Given the description of an element on the screen output the (x, y) to click on. 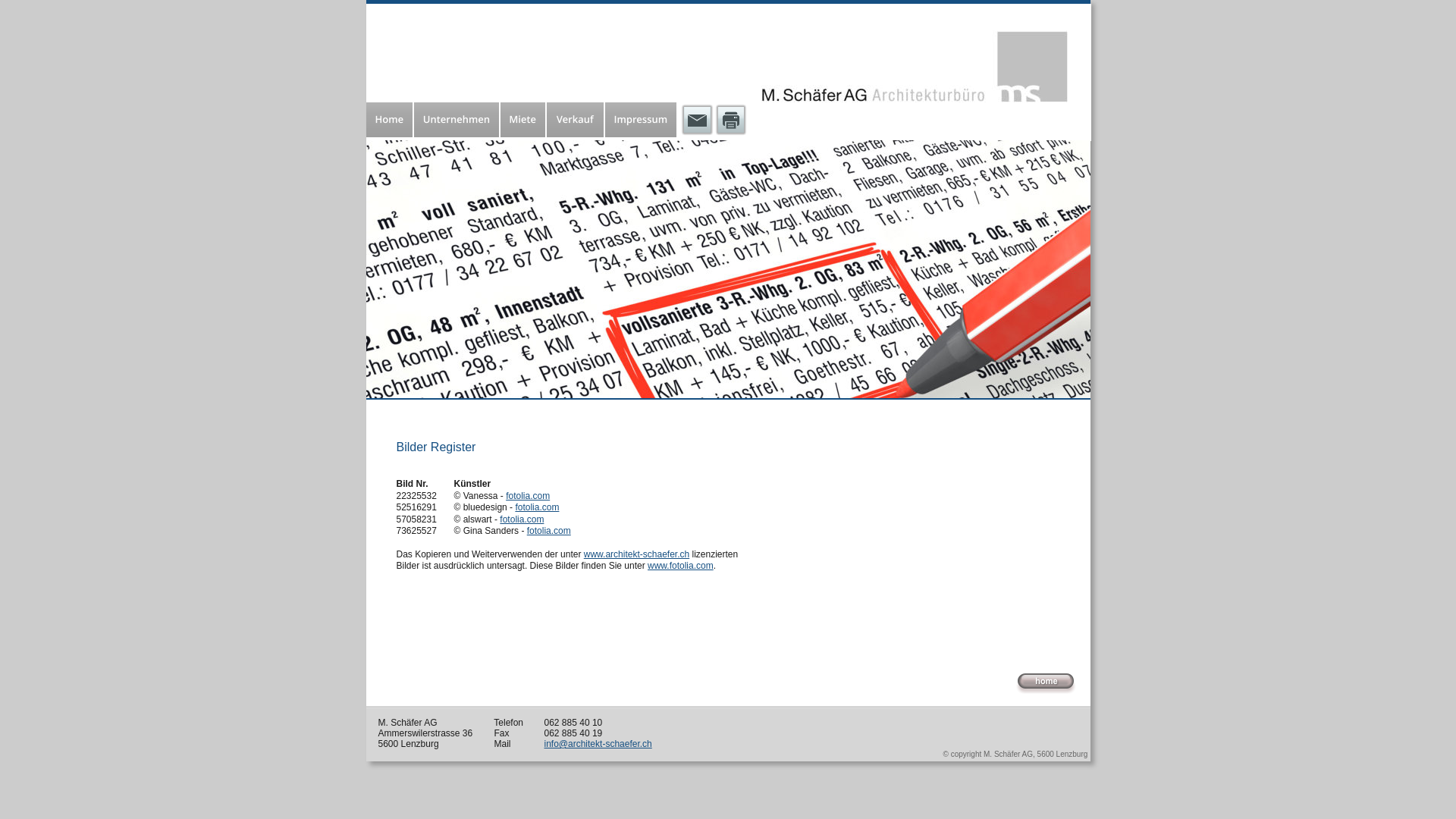
fotolia.com Element type: text (527, 495)
info@architekt-schaefer.ch Element type: text (598, 743)
www.fotolia.com Element type: text (680, 565)
fotolia.com Element type: text (549, 530)
www.architekt-schaefer.ch Element type: text (636, 554)
fotolia.com Element type: text (521, 519)
fotolia.com Element type: text (536, 507)
